Given the description of an element on the screen output the (x, y) to click on. 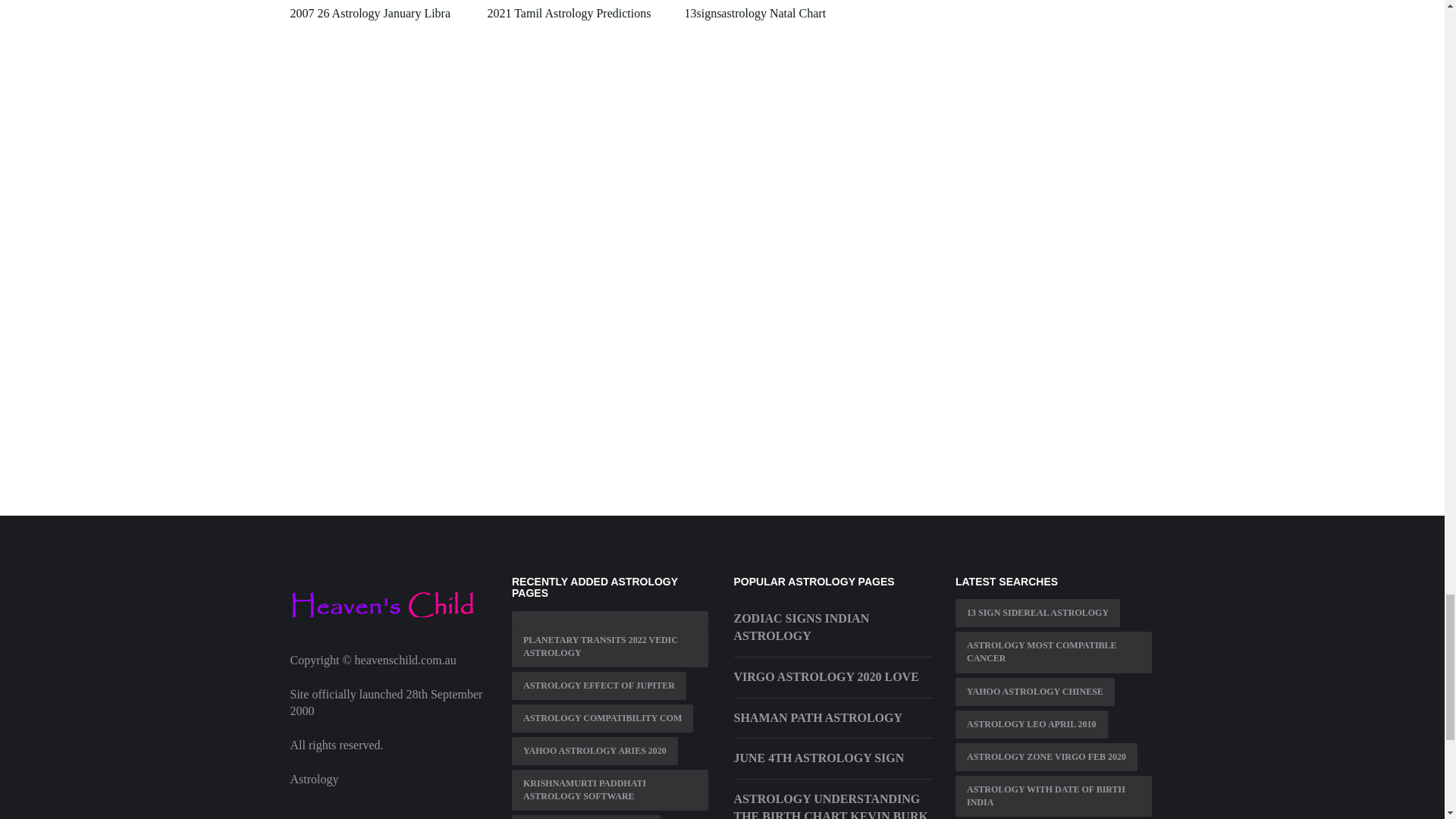
13signsastrology Natal Chart (754, 12)
2007 26 Astrology January Libra (369, 12)
2021 Tamil Astrology Predictions (568, 12)
